Given the description of an element on the screen output the (x, y) to click on. 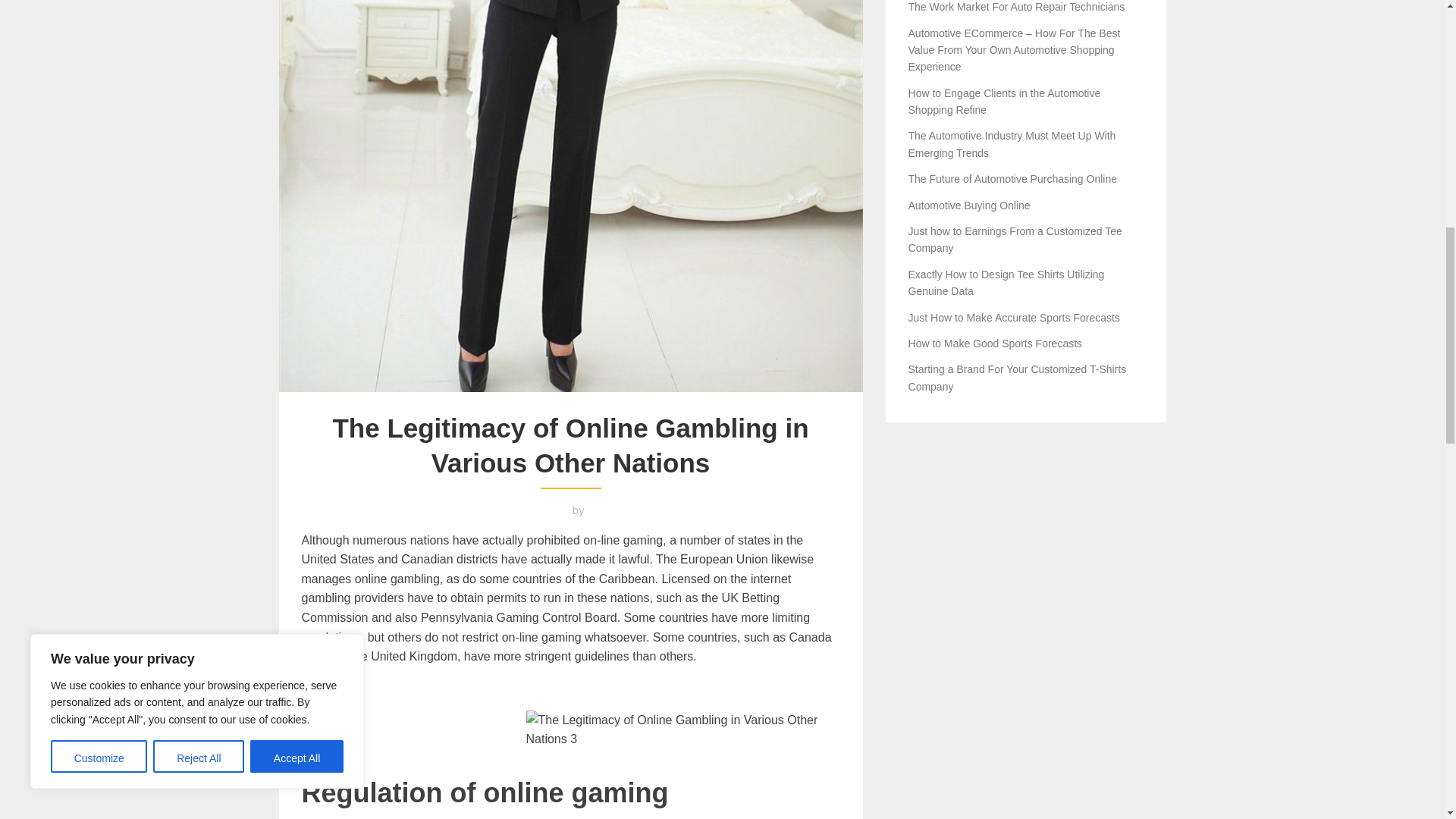
The Automotive Industry Must Meet Up With Emerging Trends (1012, 143)
The Work Market For Auto Repair Technicians (1016, 6)
How to Engage Clients in the Automotive Shopping Refine (1004, 101)
